Given the description of an element on the screen output the (x, y) to click on. 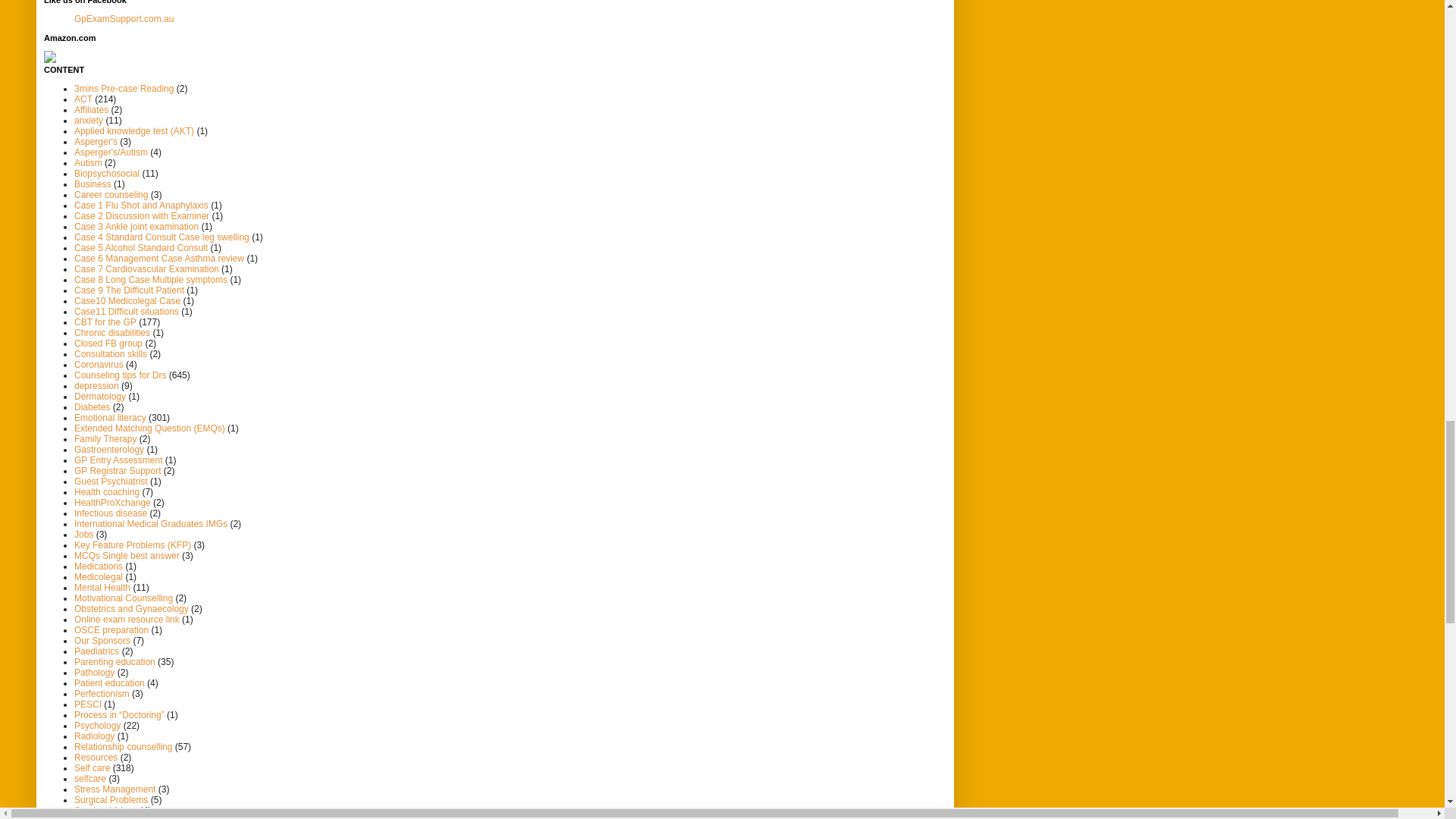
GpExamSupport.com.au (123, 18)
anxiety (88, 120)
3mins Pre-case Reading (123, 88)
ACT (83, 99)
Affiliates (90, 109)
